Given the description of an element on the screen output the (x, y) to click on. 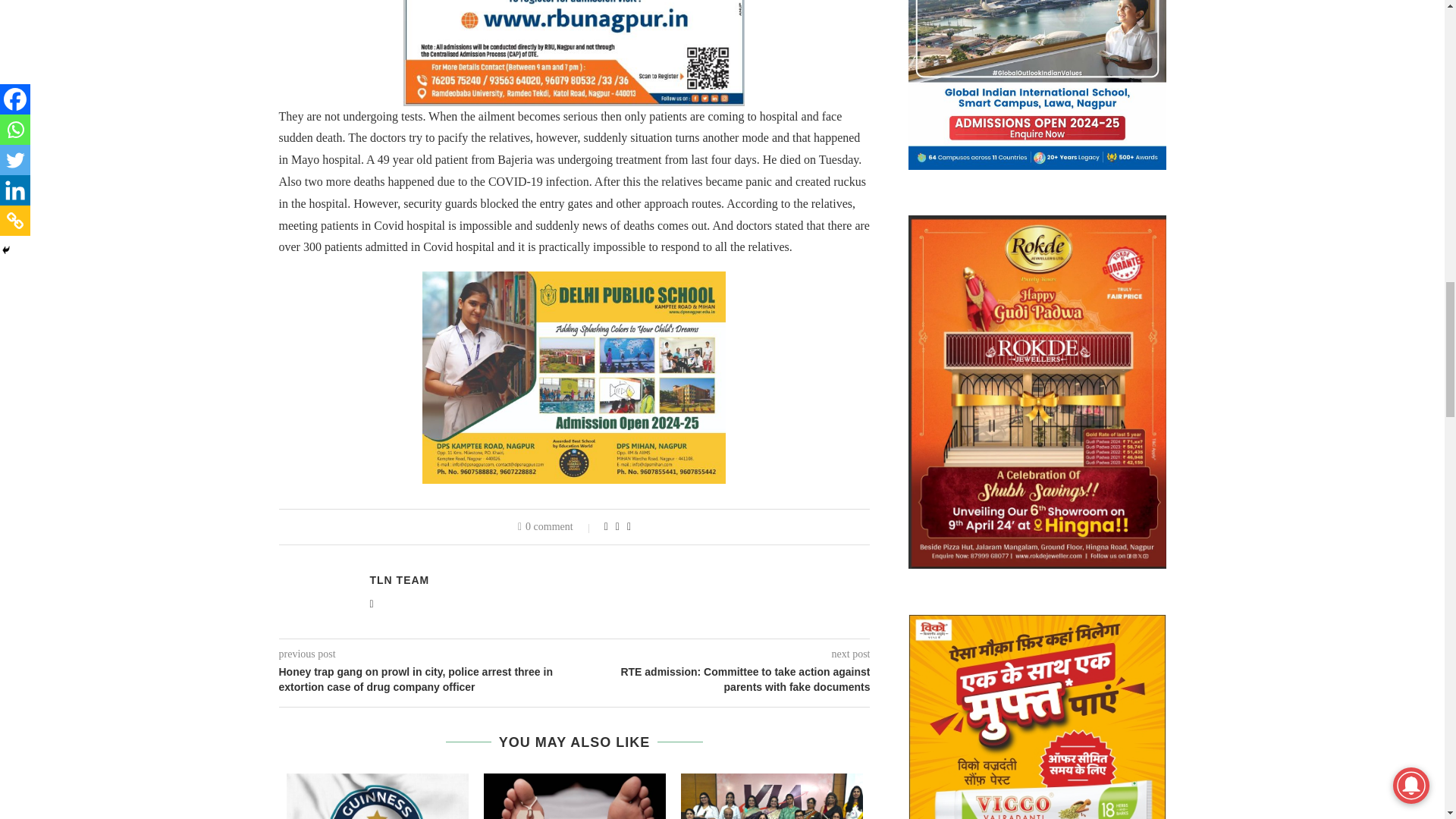
3 Months Old Mysha Jain Sets World Record (377, 796)
Posts by TLN Team (399, 580)
